Given the description of an element on the screen output the (x, y) to click on. 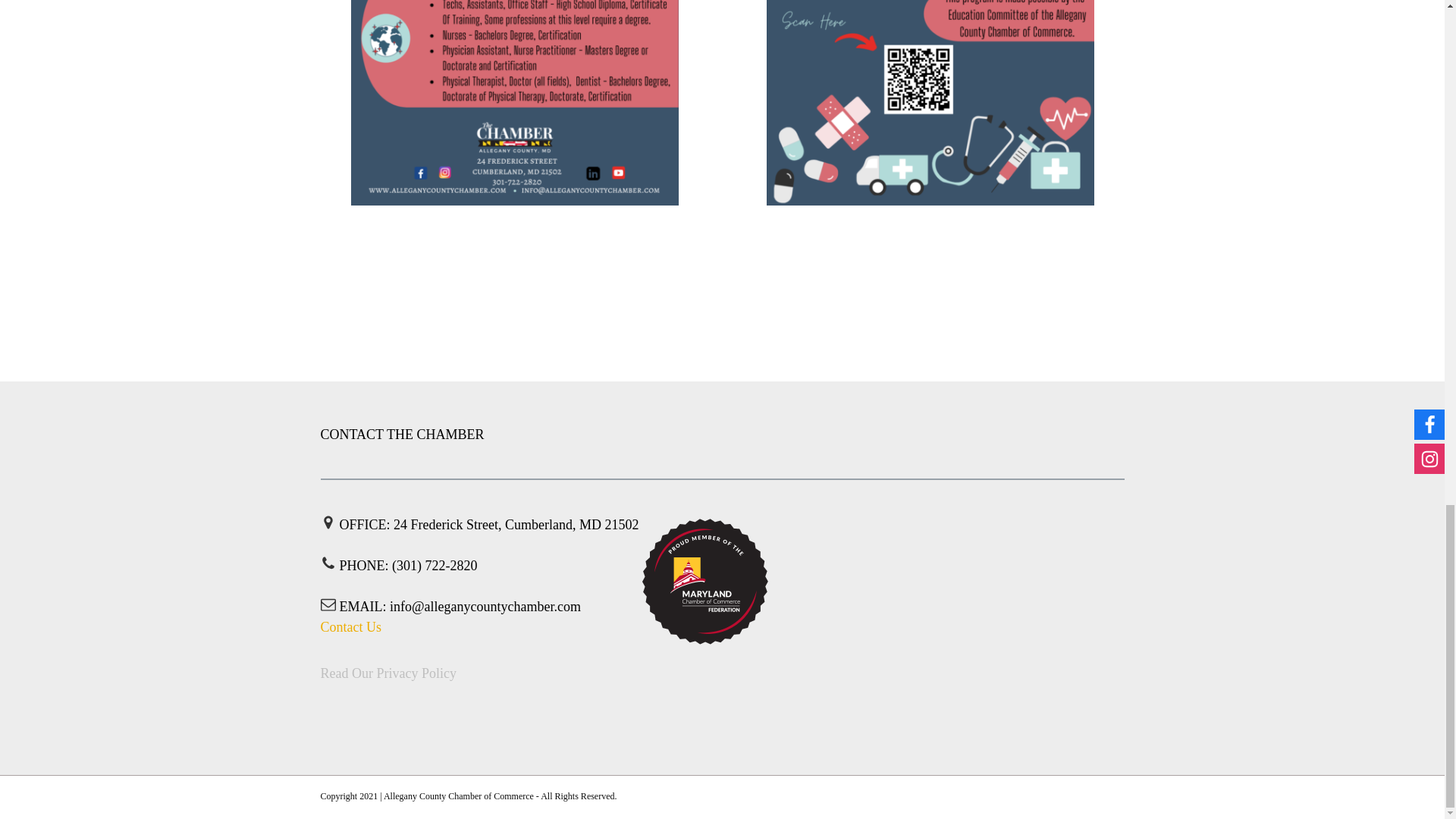
Contact Us (350, 627)
Read Our Privacy Policy (387, 673)
